Given the description of an element on the screen output the (x, y) to click on. 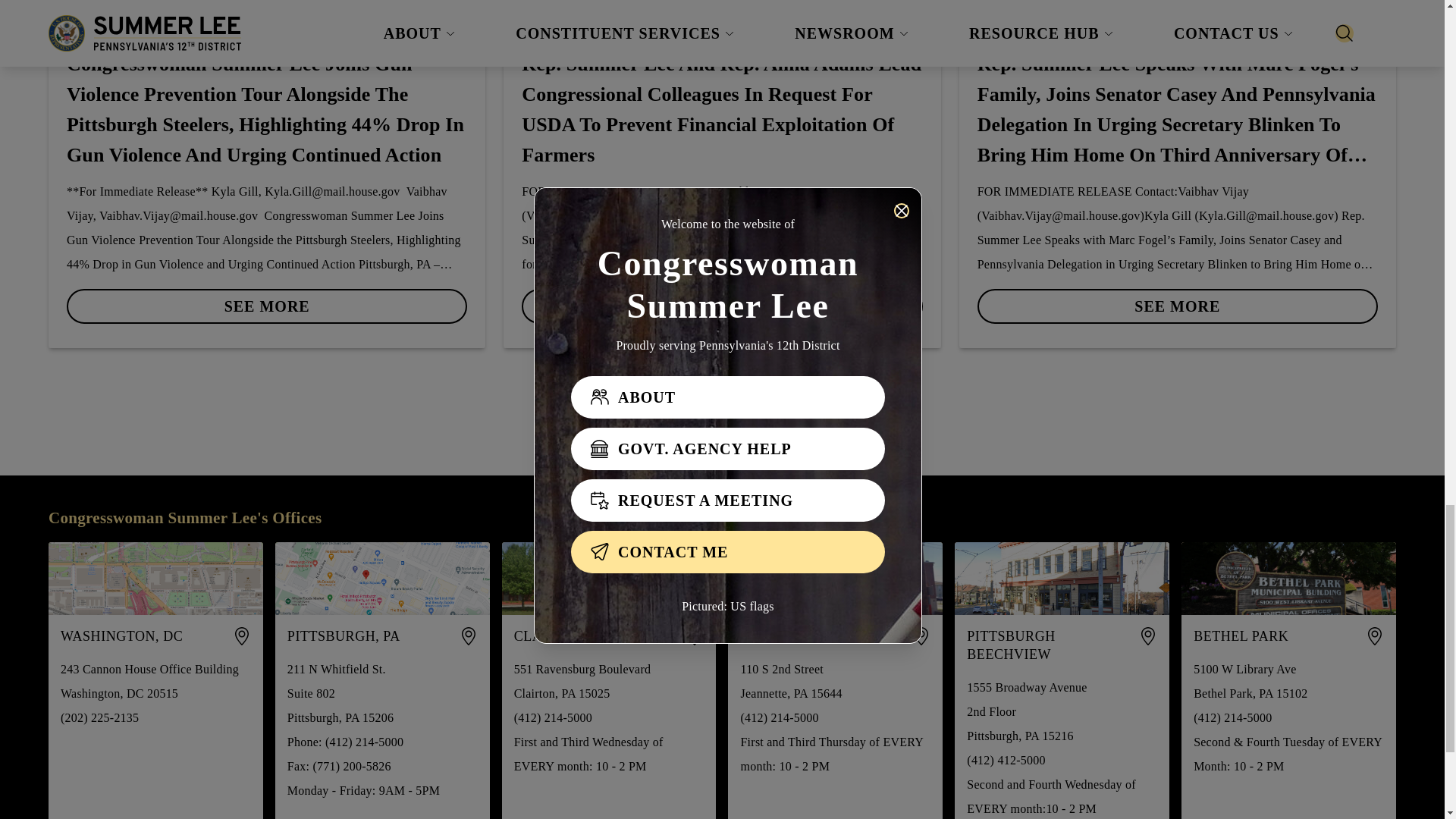
Press (172, 30)
SEE MORE (266, 299)
SEE MORE (266, 306)
